Given the description of an element on the screen output the (x, y) to click on. 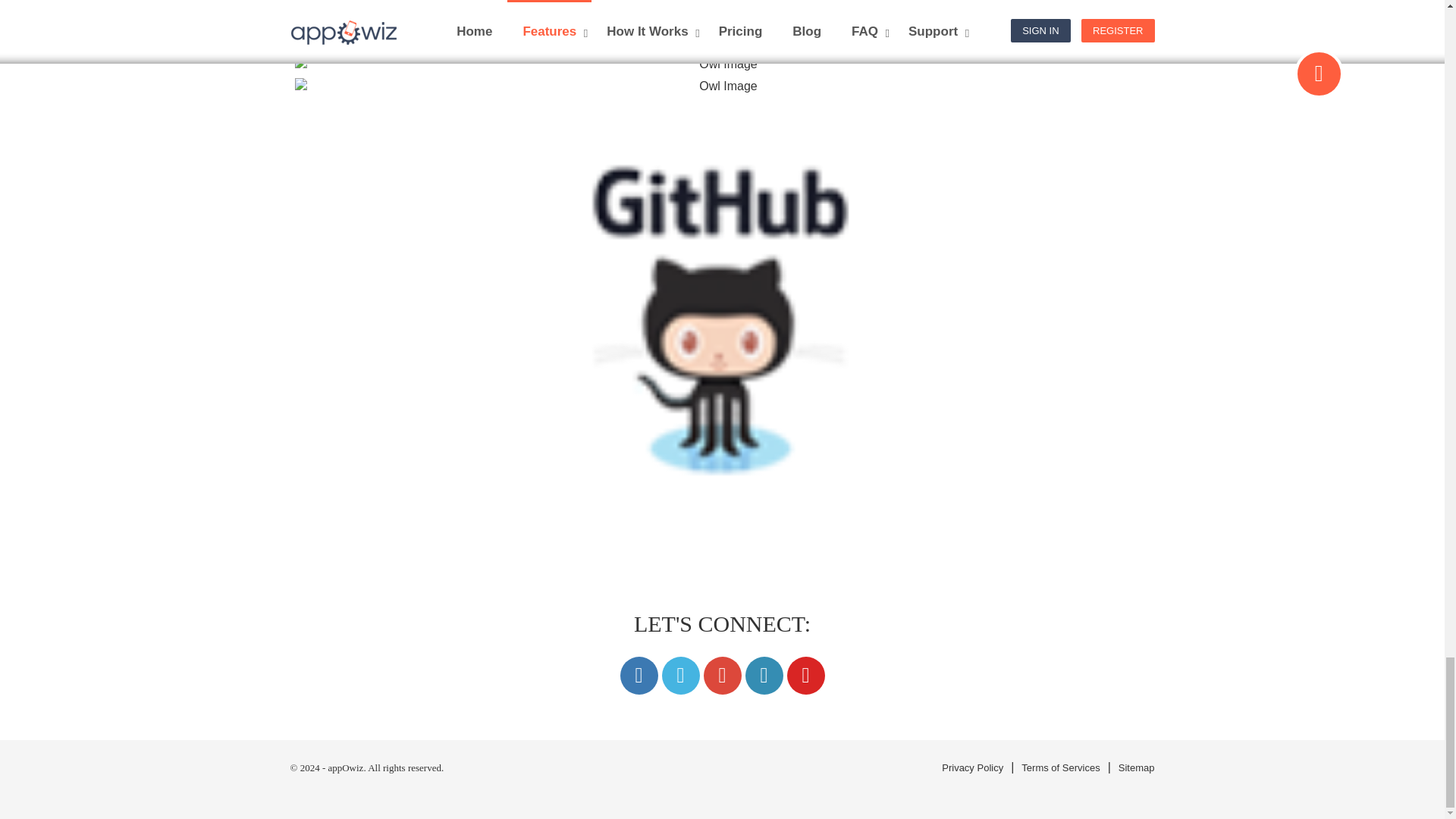
Terms of Services (1060, 767)
Facebook (639, 675)
Privacy Policy (972, 767)
Sitemap (1136, 767)
